Given the description of an element on the screen output the (x, y) to click on. 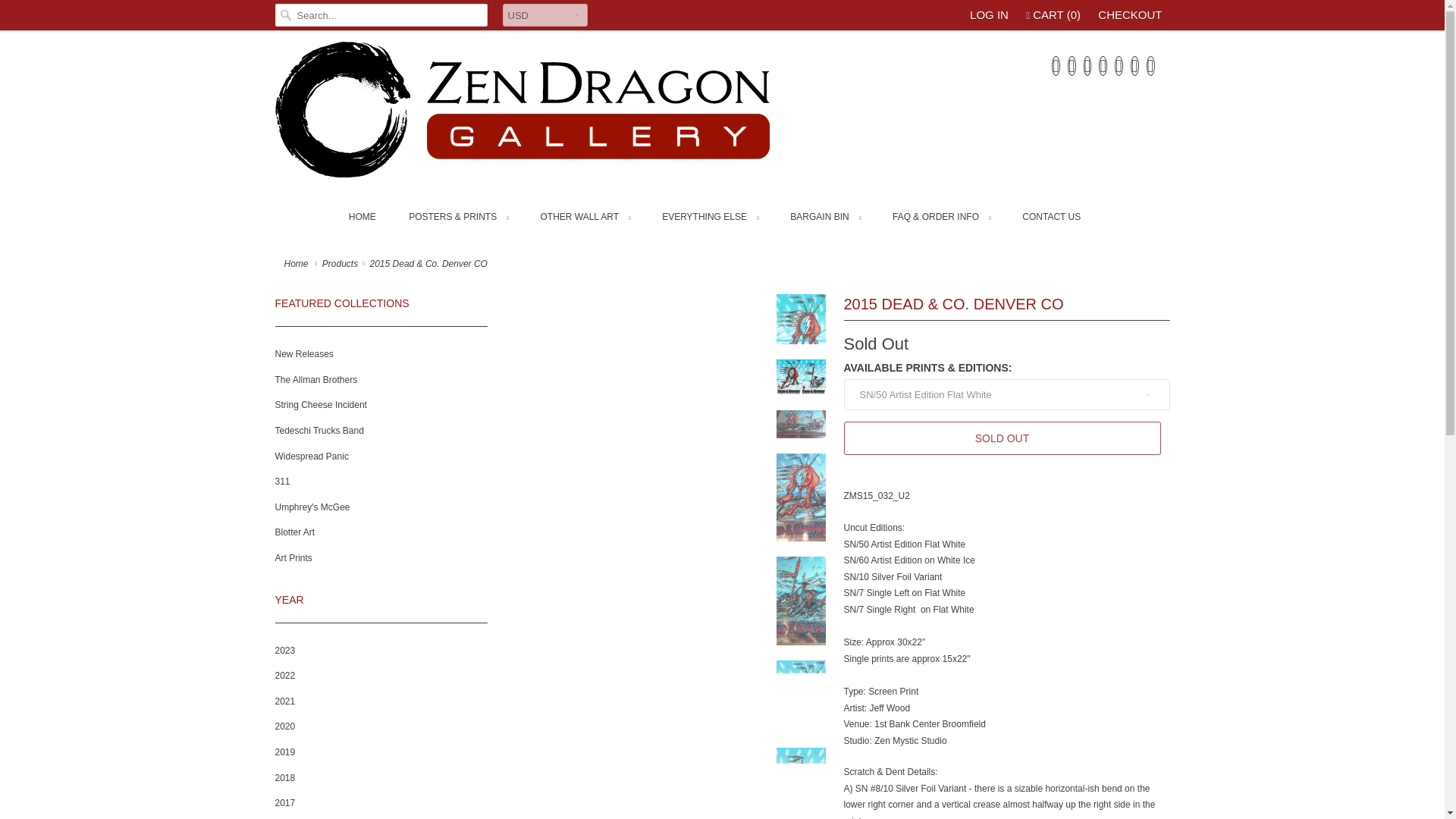
LOG IN (989, 15)
Products (339, 263)
CHECKOUT (1129, 15)
Zen Dragon Gallery (548, 113)
Zen Dragon Gallery (296, 263)
